Given the description of an element on the screen output the (x, y) to click on. 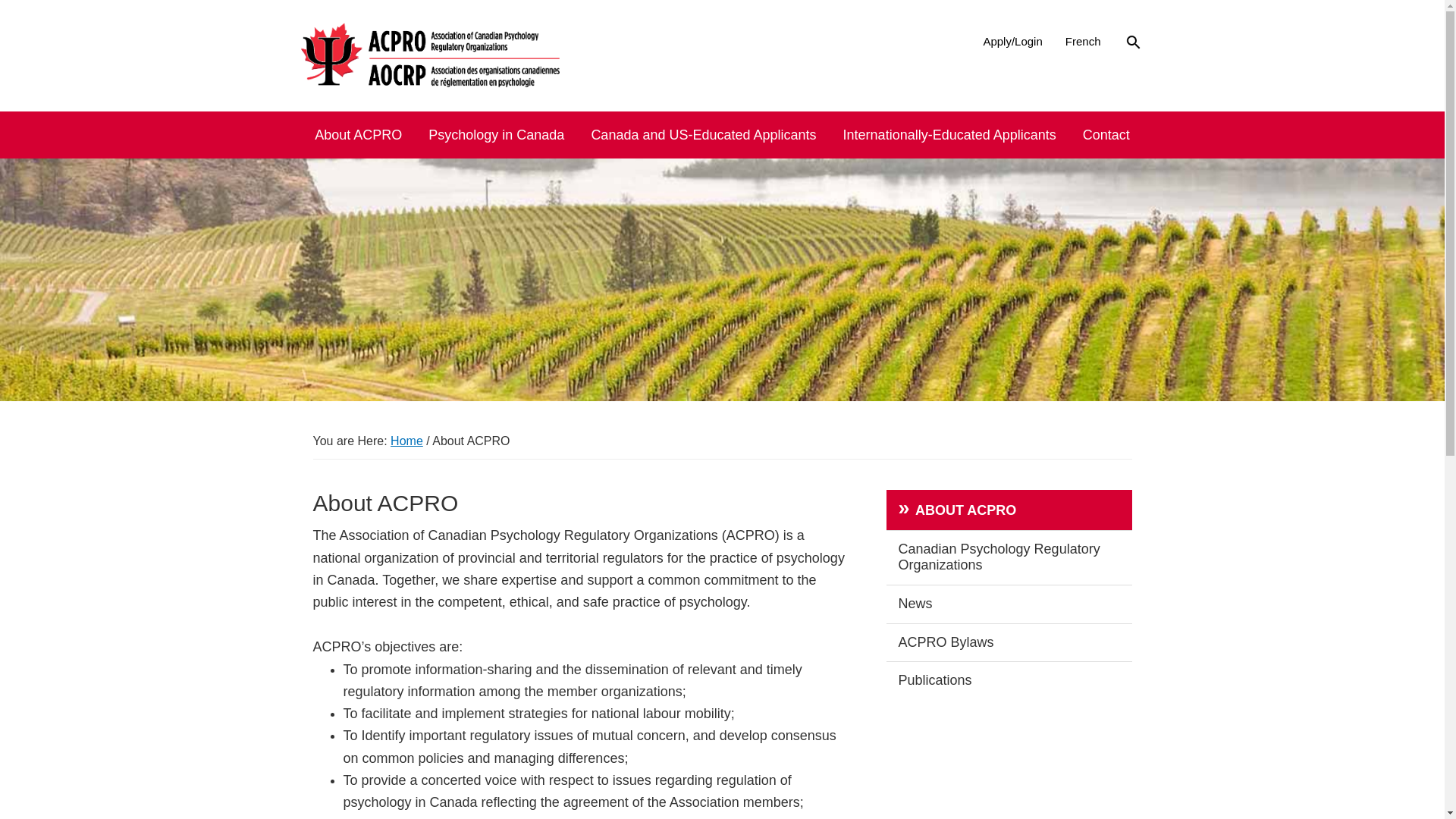
ABOUT ACPRO Element type: text (1008, 509)
ACPRO Element type: text (324, 99)
Skip to primary navigation Element type: text (0, 0)
French Element type: text (1083, 41)
News Element type: text (1008, 604)
Apply/Login Element type: text (1012, 41)
About ACPRO Element type: text (358, 134)
ACPRO Bylaws Element type: text (1008, 643)
Internationally-Educated Applicants Element type: text (949, 134)
Home Element type: text (406, 440)
Publications Element type: text (1008, 680)
Search Element type: text (42, 18)
Psychology in Canada Element type: text (496, 134)
Canadian Psychology Regulatory Organizations Element type: text (1008, 557)
Canada and US-Educated Applicants Element type: text (703, 134)
Contact Element type: text (1106, 134)
